Given the description of an element on the screen output the (x, y) to click on. 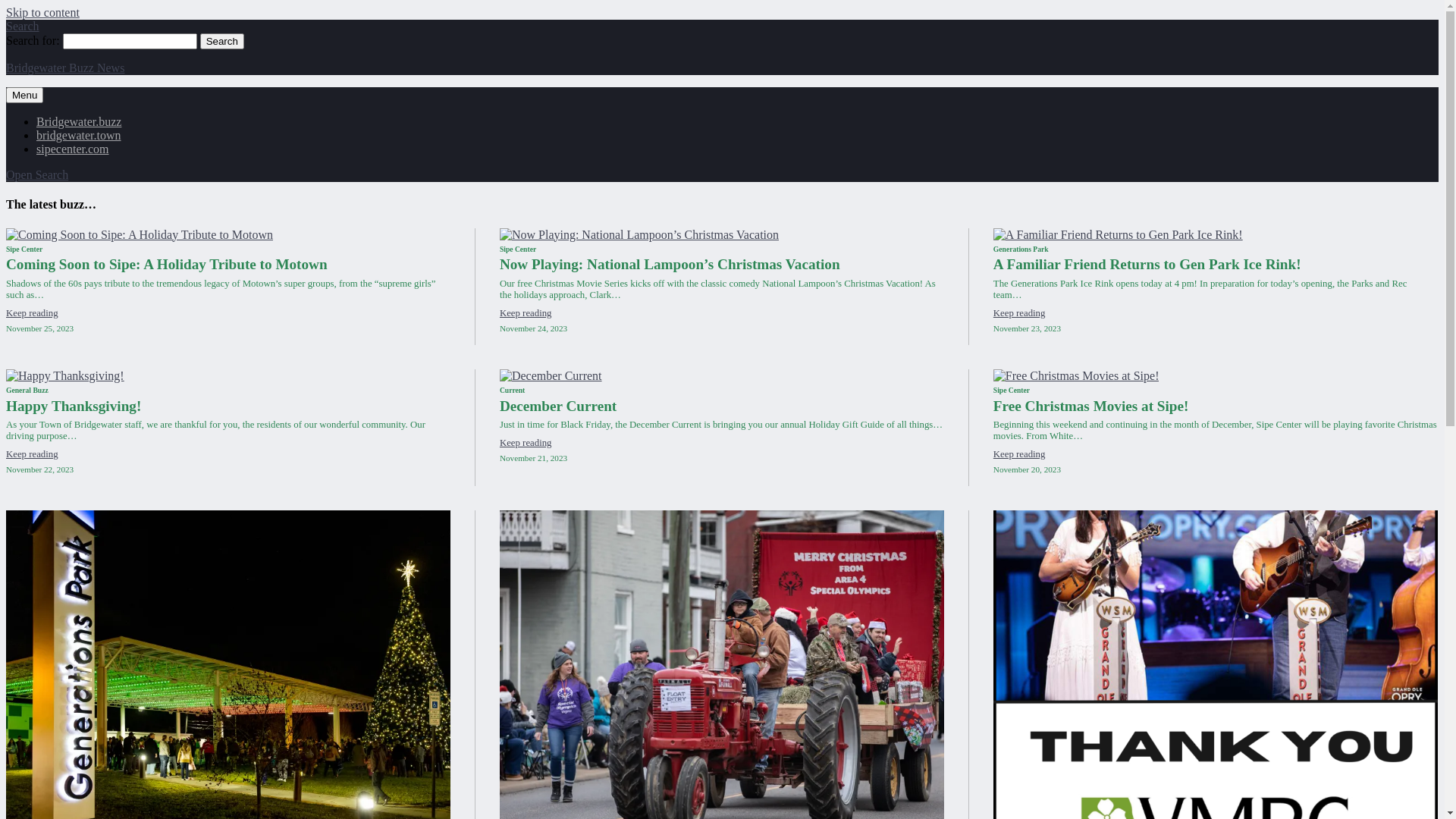
A Familiar Friend Returns to Gen Park Ice Rink! Element type: text (1147, 264)
Keep reading Element type: text (1019, 453)
Search Element type: text (222, 41)
Coming Soon to Sipe: A Holiday Tribute to Motown Element type: text (166, 264)
Happy Thanksgiving! Element type: text (73, 405)
bridgewater.town Element type: text (78, 134)
Generations Park Element type: text (1020, 248)
Sipe Center Element type: text (517, 248)
Keep reading Element type: text (525, 312)
Keep reading Element type: text (32, 312)
Bridgewater.buzz Element type: text (78, 121)
Bridgewater Buzz News Element type: text (65, 67)
General Buzz Element type: text (27, 389)
Keep reading Element type: text (525, 442)
Free Christmas Movies at Sipe! Element type: text (1091, 405)
Keep reading Element type: text (1019, 312)
Keep reading Element type: text (32, 453)
Sipe Center Element type: text (1011, 389)
Sipe Center Element type: text (24, 248)
Open Search Element type: text (37, 174)
December Current Element type: text (557, 405)
Skip to content Element type: text (42, 12)
sipecenter.com Element type: text (72, 148)
Current Element type: text (511, 389)
Search Element type: text (22, 25)
Menu Element type: text (24, 95)
